Given the description of an element on the screen output the (x, y) to click on. 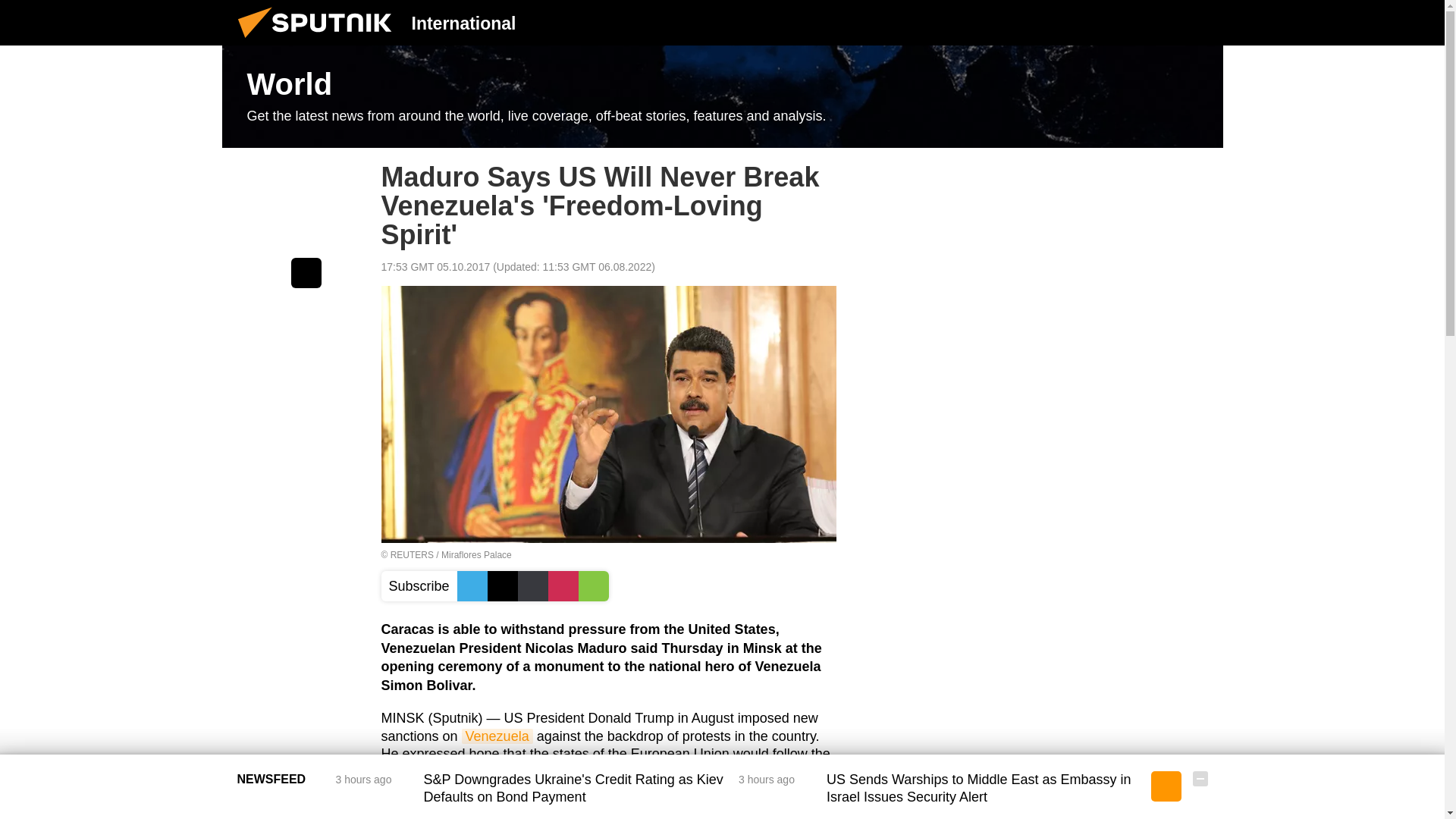
Authorization (1123, 22)
Chats (1199, 22)
World (722, 96)
Sputnik International (319, 41)
